Given the description of an element on the screen output the (x, y) to click on. 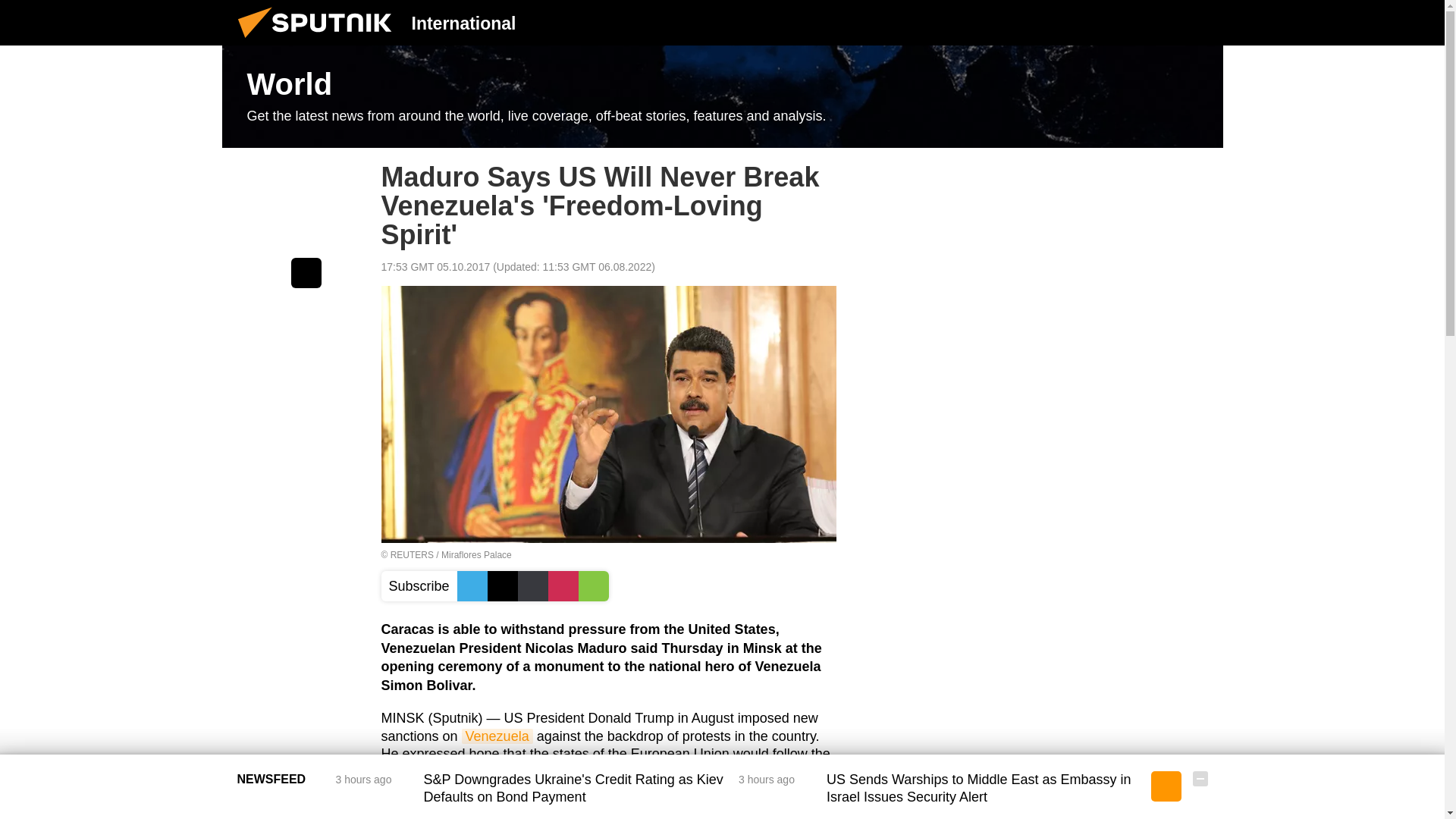
Authorization (1123, 22)
Chats (1199, 22)
World (722, 96)
Sputnik International (319, 41)
